Given the description of an element on the screen output the (x, y) to click on. 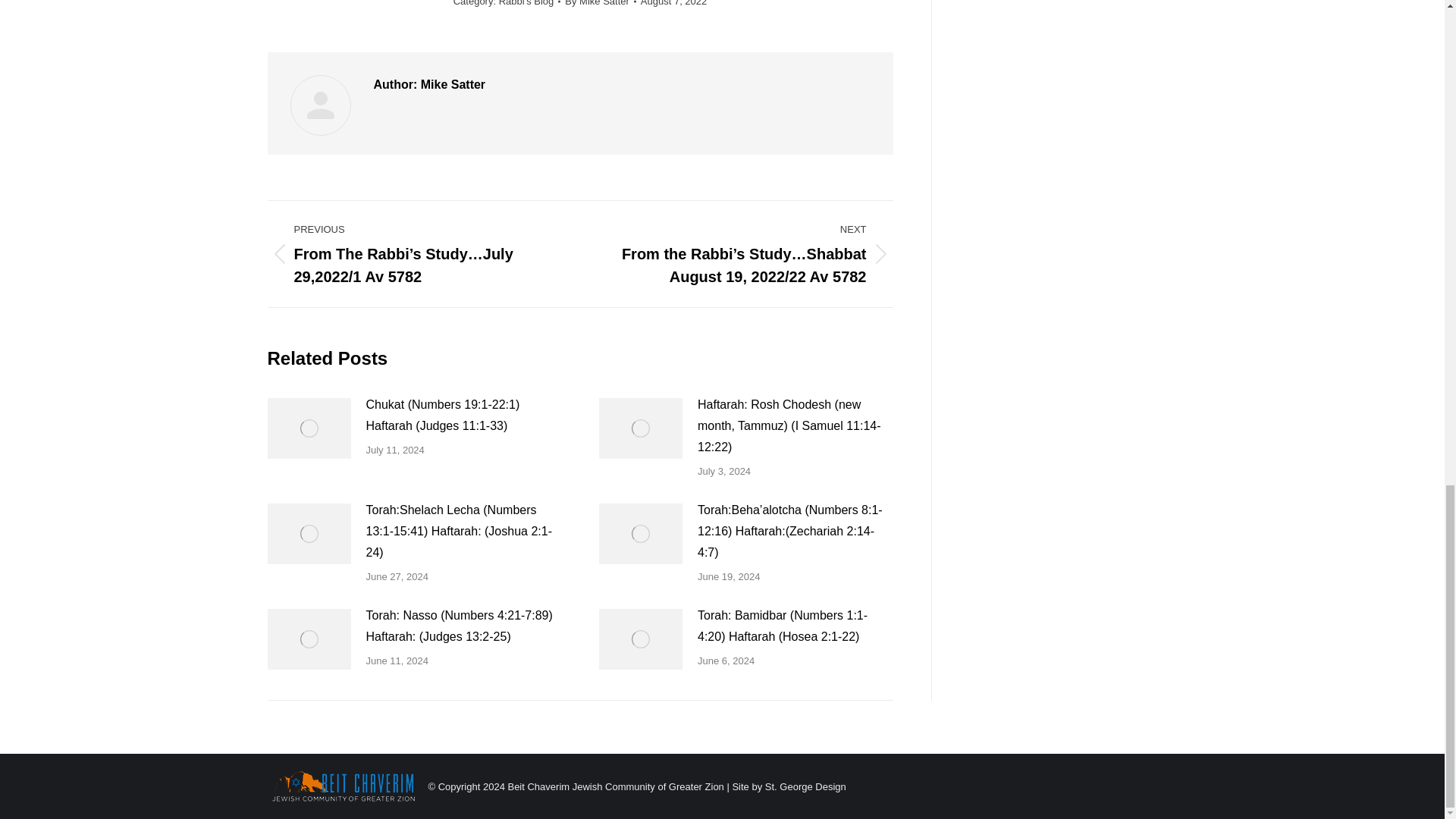
By Mike Satter (600, 5)
Rabbi's Blog (526, 3)
August 7, 2022 (673, 5)
2:07 pm (673, 5)
View all posts by Mike Satter (600, 5)
